Given the description of an element on the screen output the (x, y) to click on. 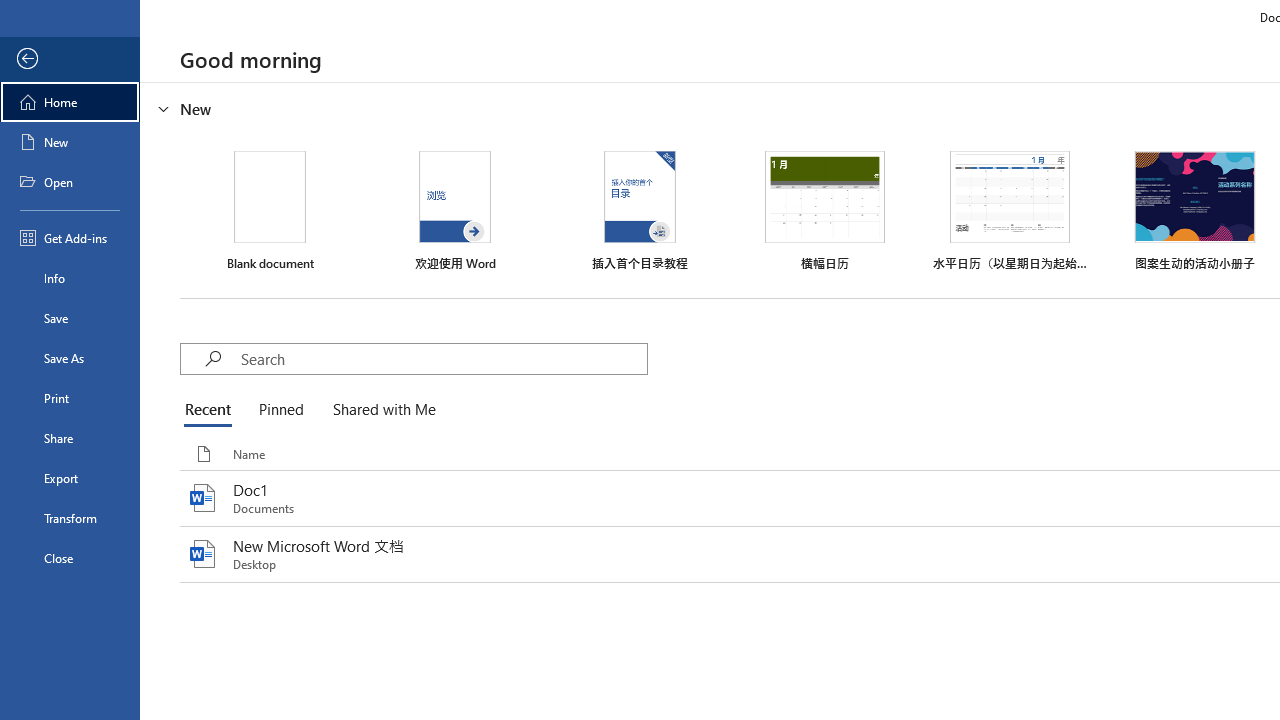
Save As (69, 357)
Blank document (269, 211)
Back (69, 59)
Open (69, 182)
Print (69, 398)
Shared with Me (379, 410)
Home (69, 101)
Hide or show region (164, 108)
Share (69, 437)
Info (69, 277)
Search (443, 358)
Export (69, 477)
Close (69, 557)
